Given the description of an element on the screen output the (x, y) to click on. 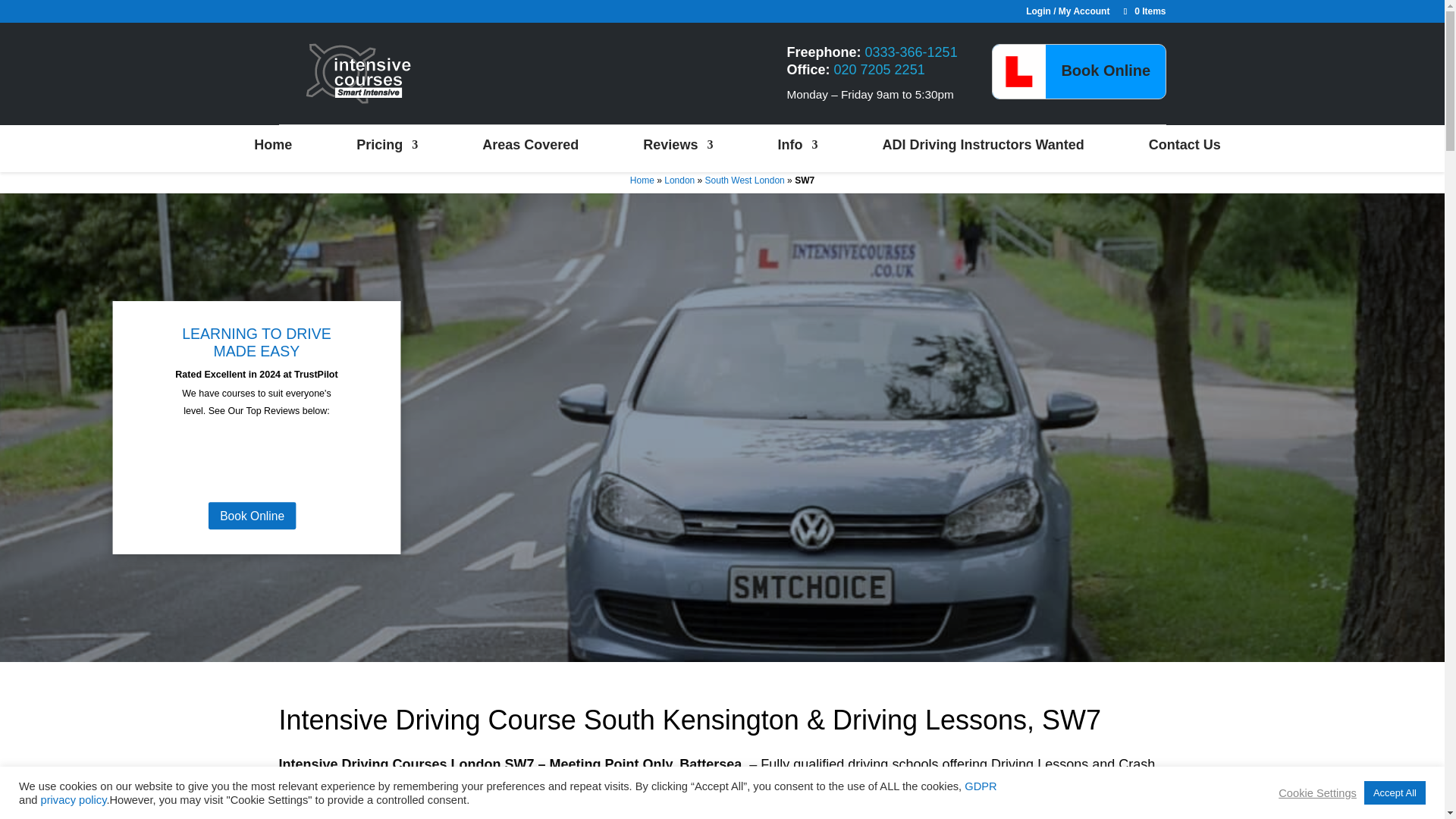
ADI Driving Instructors Wanted (982, 144)
Pricing (386, 144)
Customer reviews powered by Trustpilot (280, 461)
Reviews (678, 144)
Book Online (1105, 70)
Info (796, 144)
Home (272, 144)
Contact Us (1184, 144)
Areas Covered (529, 144)
020 7205 2251 (879, 69)
